Given the description of an element on the screen output the (x, y) to click on. 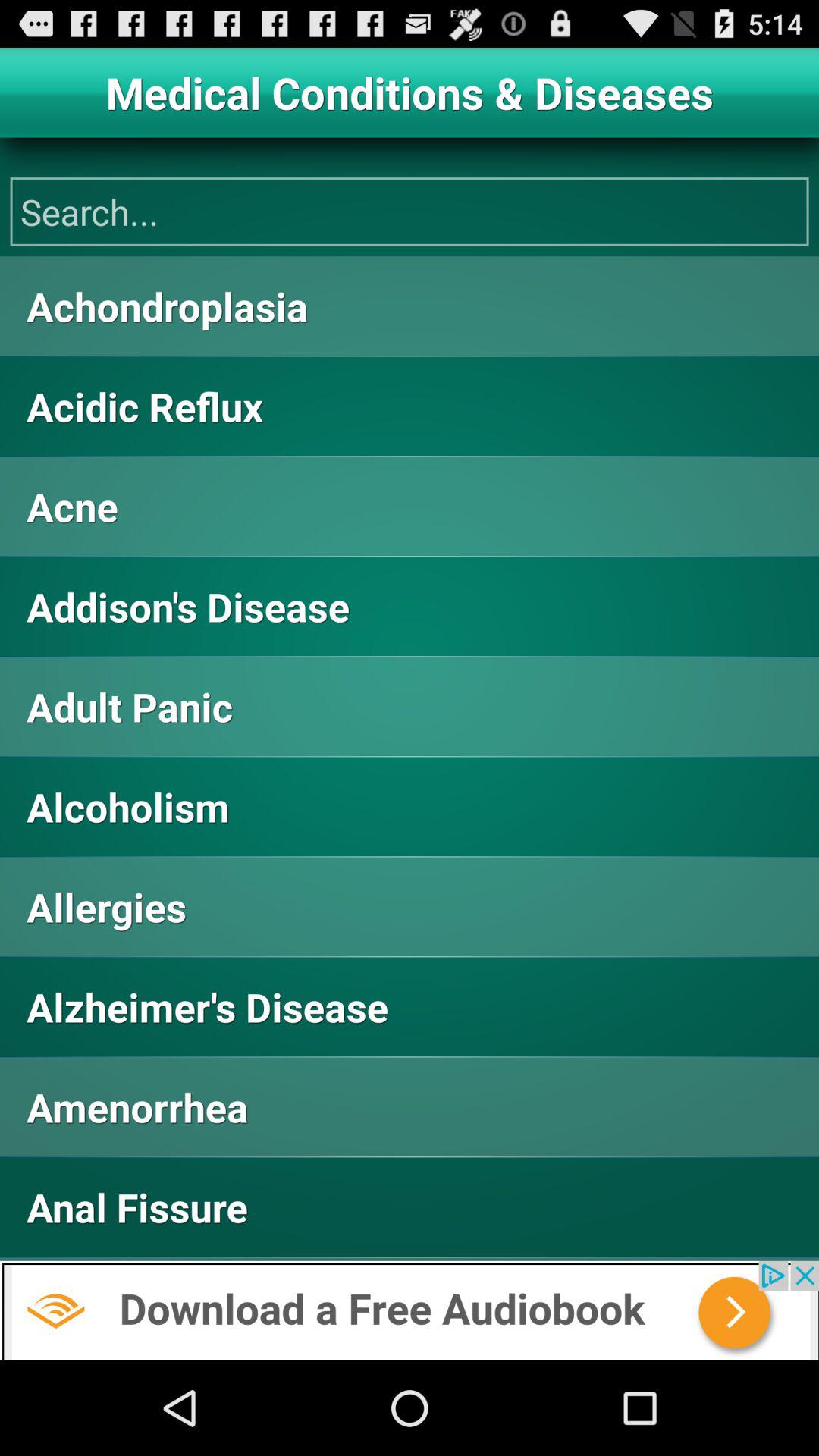
open advertisement (409, 1310)
